Given the description of an element on the screen output the (x, y) to click on. 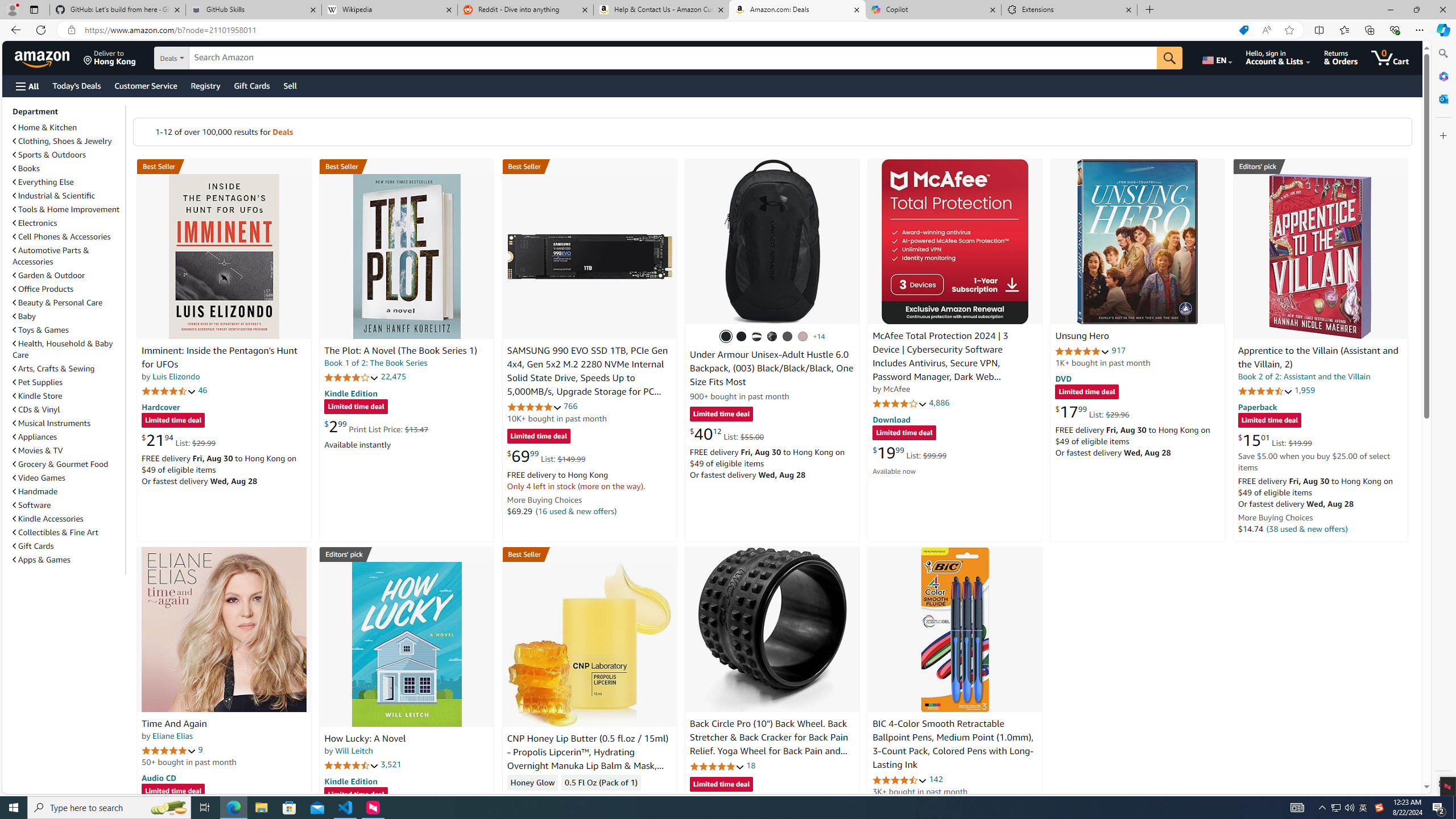
Books (26, 167)
Open Menu (26, 86)
Tools & Home Improvement (67, 208)
Appliances (34, 436)
766 (570, 406)
The Plot: A Novel (The Book Series 1) (406, 256)
Appliances (67, 436)
Industrial & Scientific (67, 195)
(16 used & new offers) (576, 511)
Apprentice to the Villain (Assistant and the Villain, 2) (1319, 256)
$69.99 List: $149.99 (545, 455)
